Given the description of an element on the screen output the (x, y) to click on. 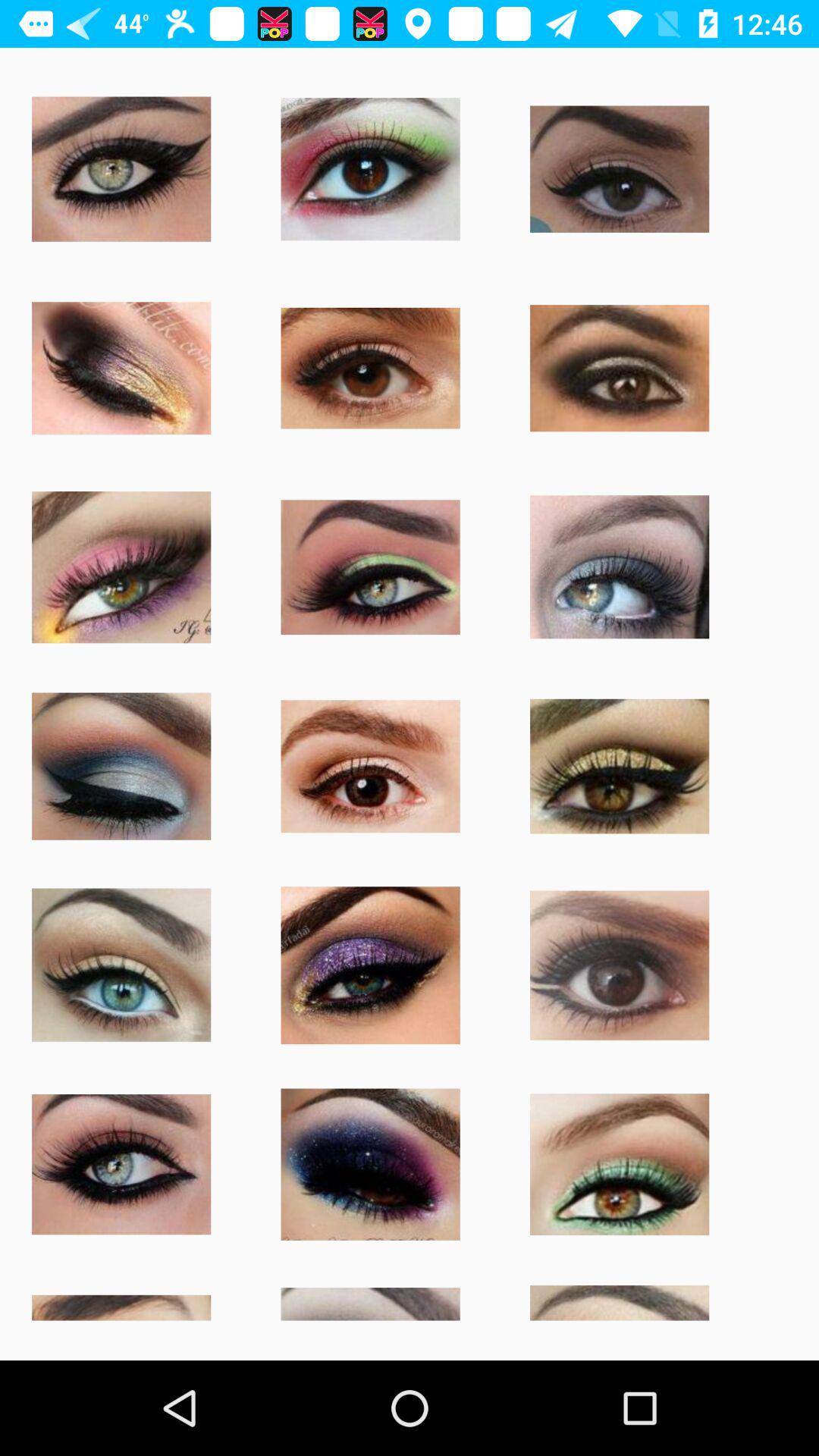
click on the  third image which is on the fifth row (370, 965)
go to option from bottom 2nd last row that too middle one (370, 1164)
select the first image (120, 169)
select the third image in first row (619, 169)
click on seventh row first image (120, 1301)
click on image from second row first image (120, 368)
